Given the description of an element on the screen output the (x, y) to click on. 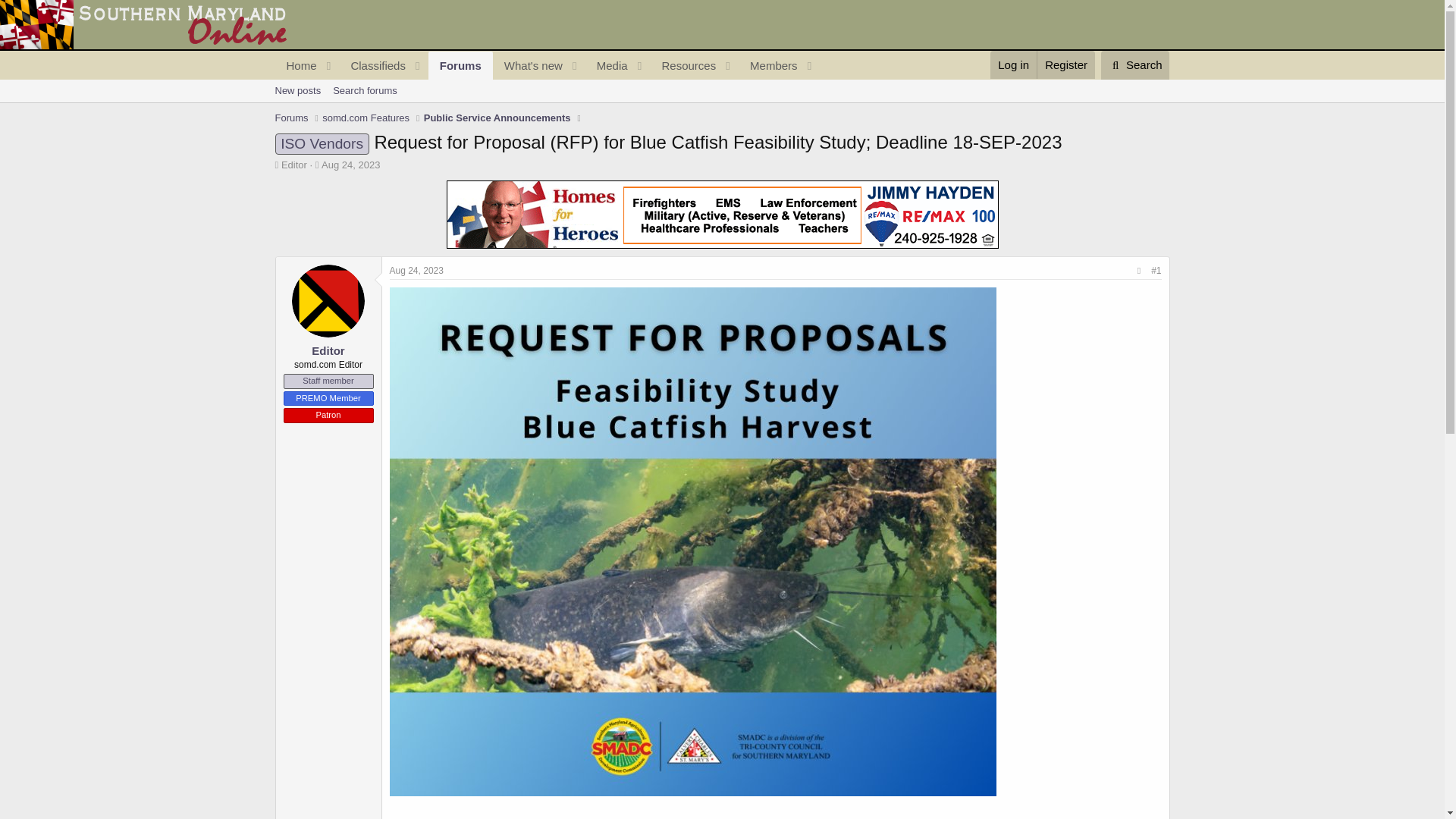
Jimmy Hayden - O'Brien Realty (721, 214)
Forums (460, 65)
Search (1135, 64)
Aug 24, 2023 at 10:54 AM (720, 107)
What's new (350, 164)
Classifieds (528, 65)
Home (372, 65)
a9aab3ea-eddc-fcc6-ca1e-264574160763.jpg (546, 82)
Aug 24, 2023 at 10:54 AM (546, 65)
